Given the description of an element on the screen output the (x, y) to click on. 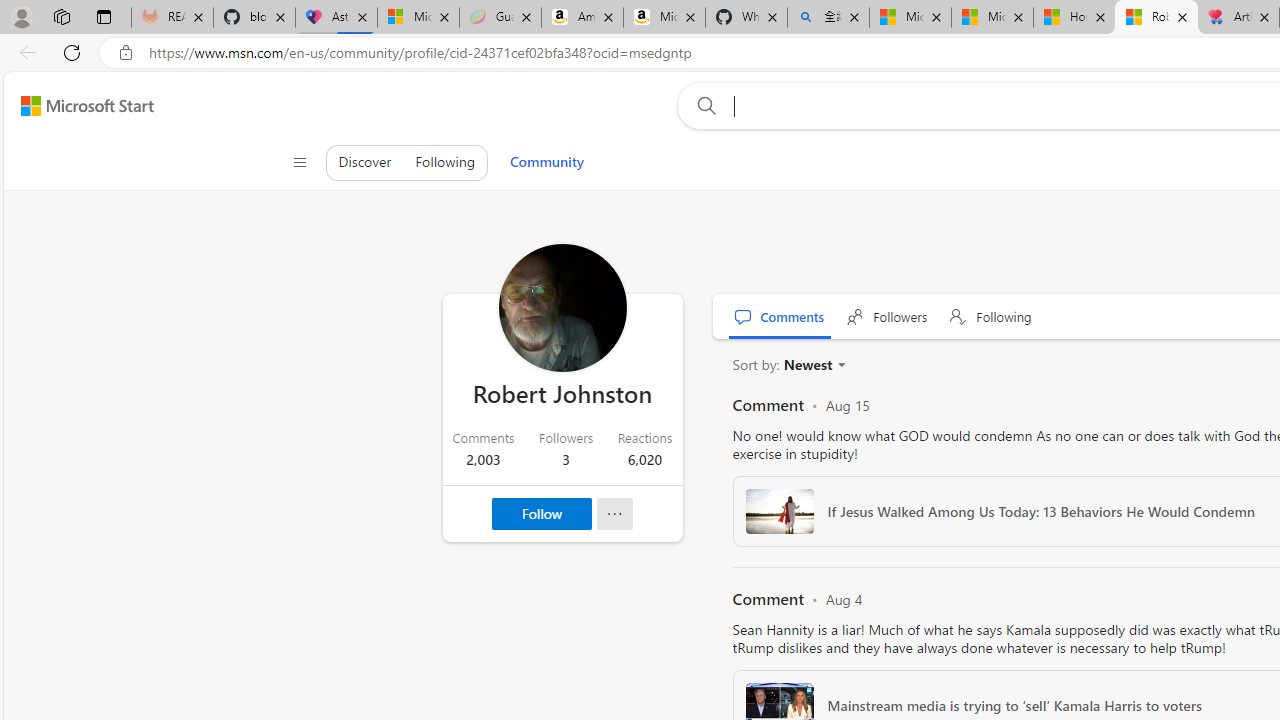
 Following (991, 316)
Report profile (614, 513)
Community (546, 161)
Class: cwt-icon-vector (841, 364)
 Comments (780, 316)
